Given the description of an element on the screen output the (x, y) to click on. 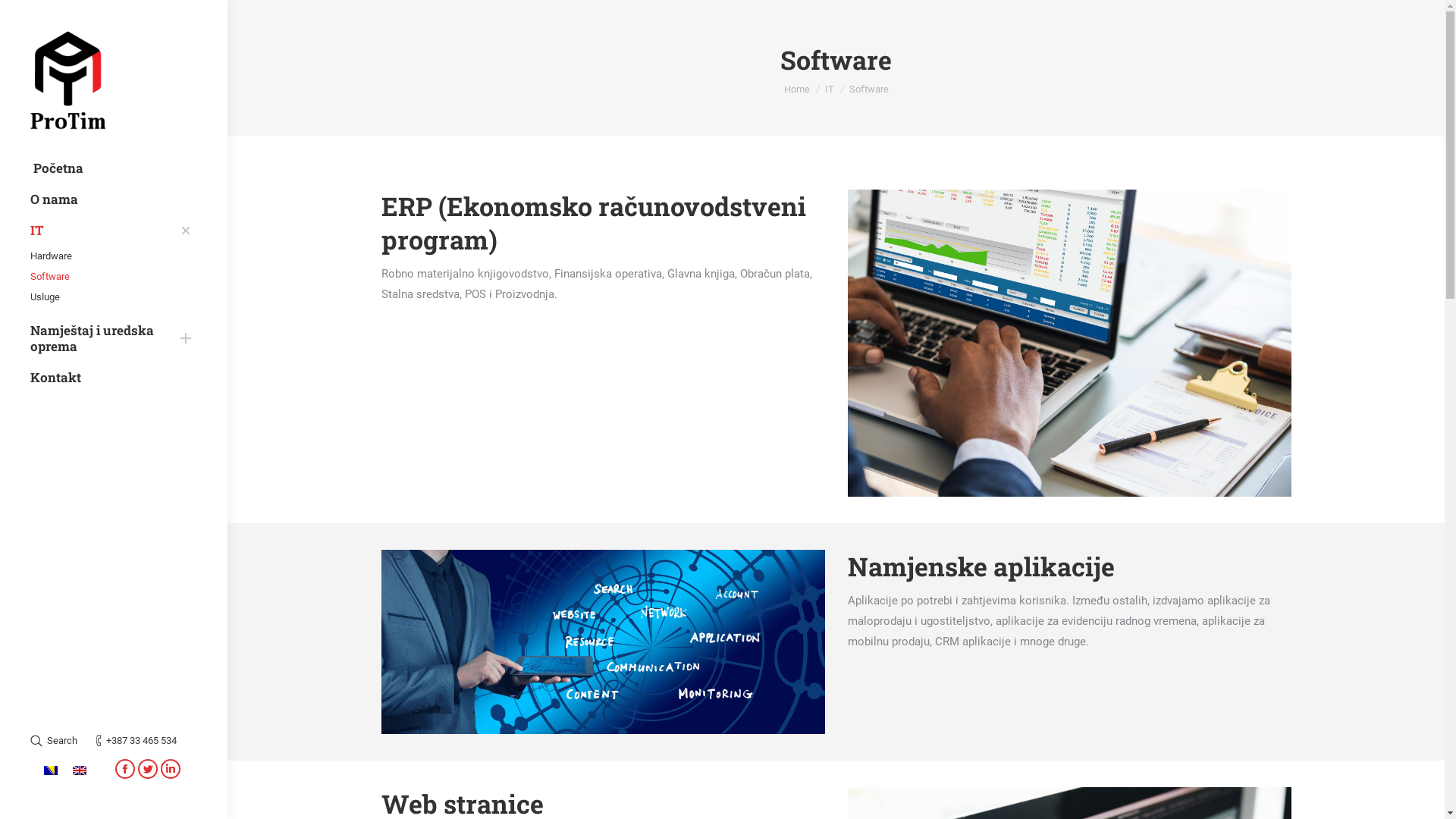
Hardware Element type: text (102, 255)
Kontakt Element type: text (113, 376)
IT Element type: text (829, 88)
Facebook Element type: text (124, 768)
IT Element type: text (102, 229)
Usluge Element type: text (102, 296)
English Element type: hover (79, 770)
Software Element type: text (102, 276)
Bosnian Element type: hover (50, 770)
Twitter Element type: text (147, 768)
Search Element type: text (53, 740)
Home Element type: text (796, 88)
Go! Element type: text (21, 14)
O nama Element type: text (113, 198)
Linkedin Element type: text (170, 768)
